Given the description of an element on the screen output the (x, y) to click on. 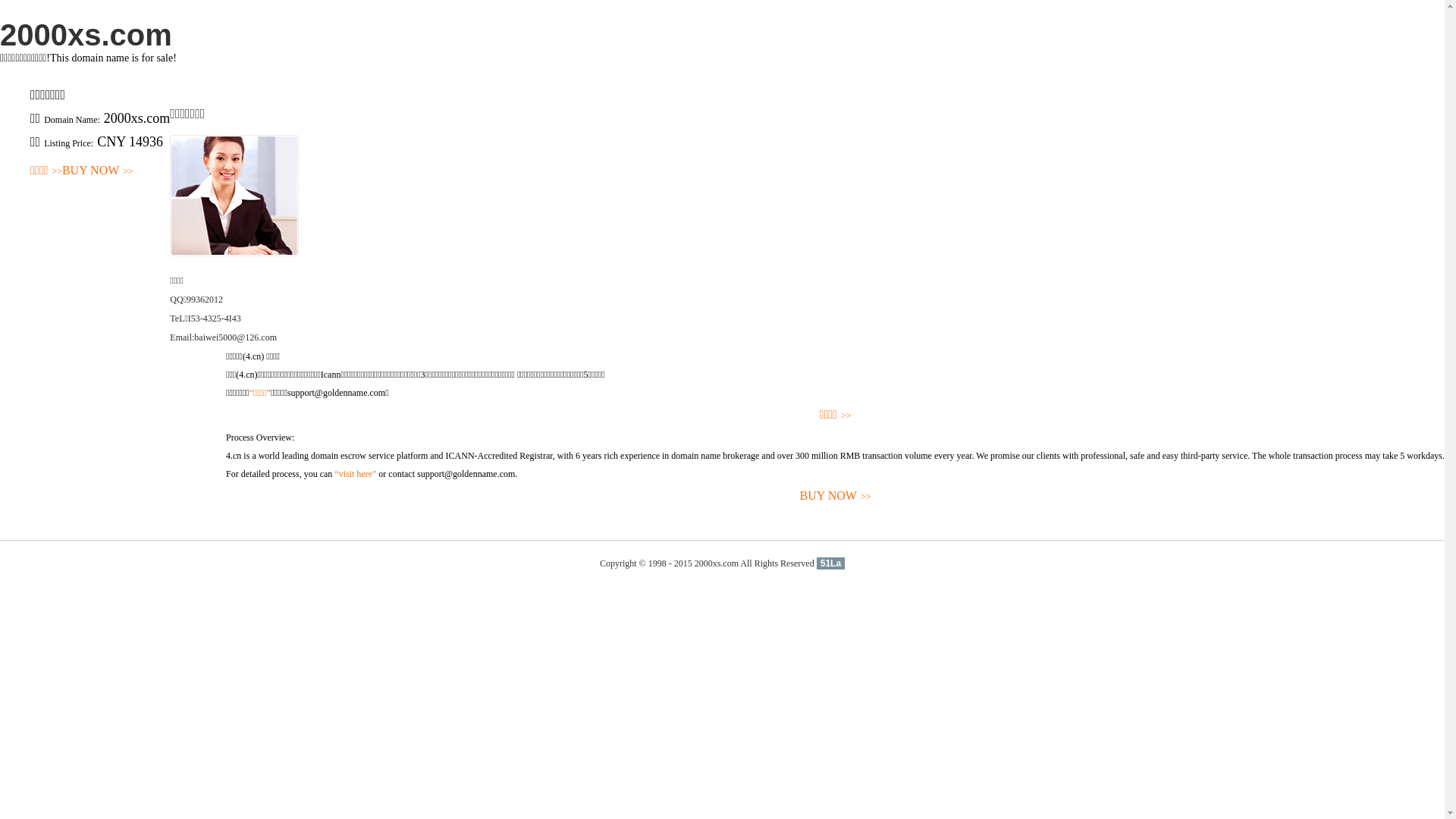
BUY NOW>> Element type: text (834, 496)
51La Element type: text (830, 563)
BUY NOW>> Element type: text (97, 170)
